Given the description of an element on the screen output the (x, y) to click on. 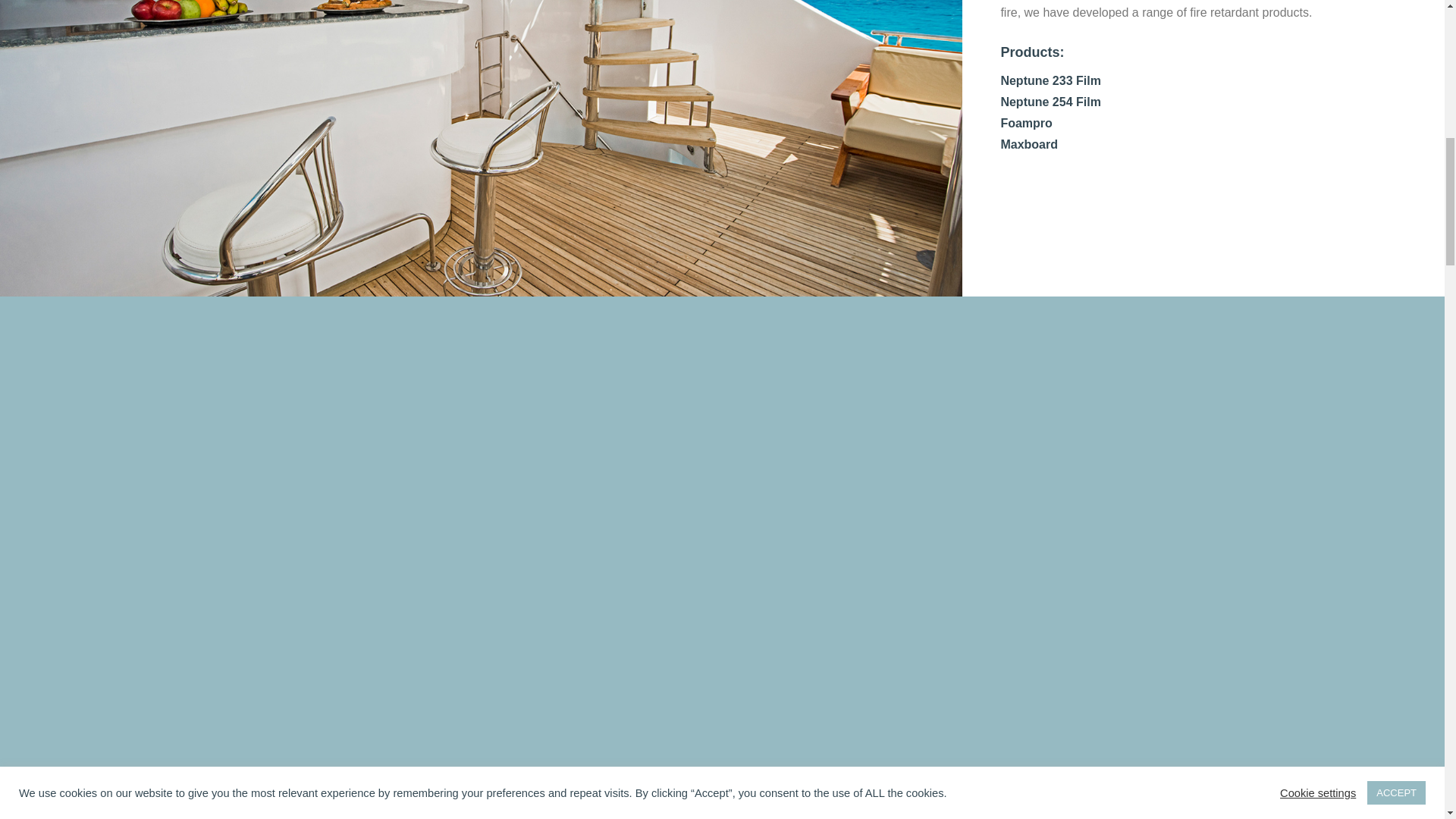
Neptune 254 Film (1050, 101)
Foampro (1025, 123)
Neptune 233 Film (1050, 80)
